Given the description of an element on the screen output the (x, y) to click on. 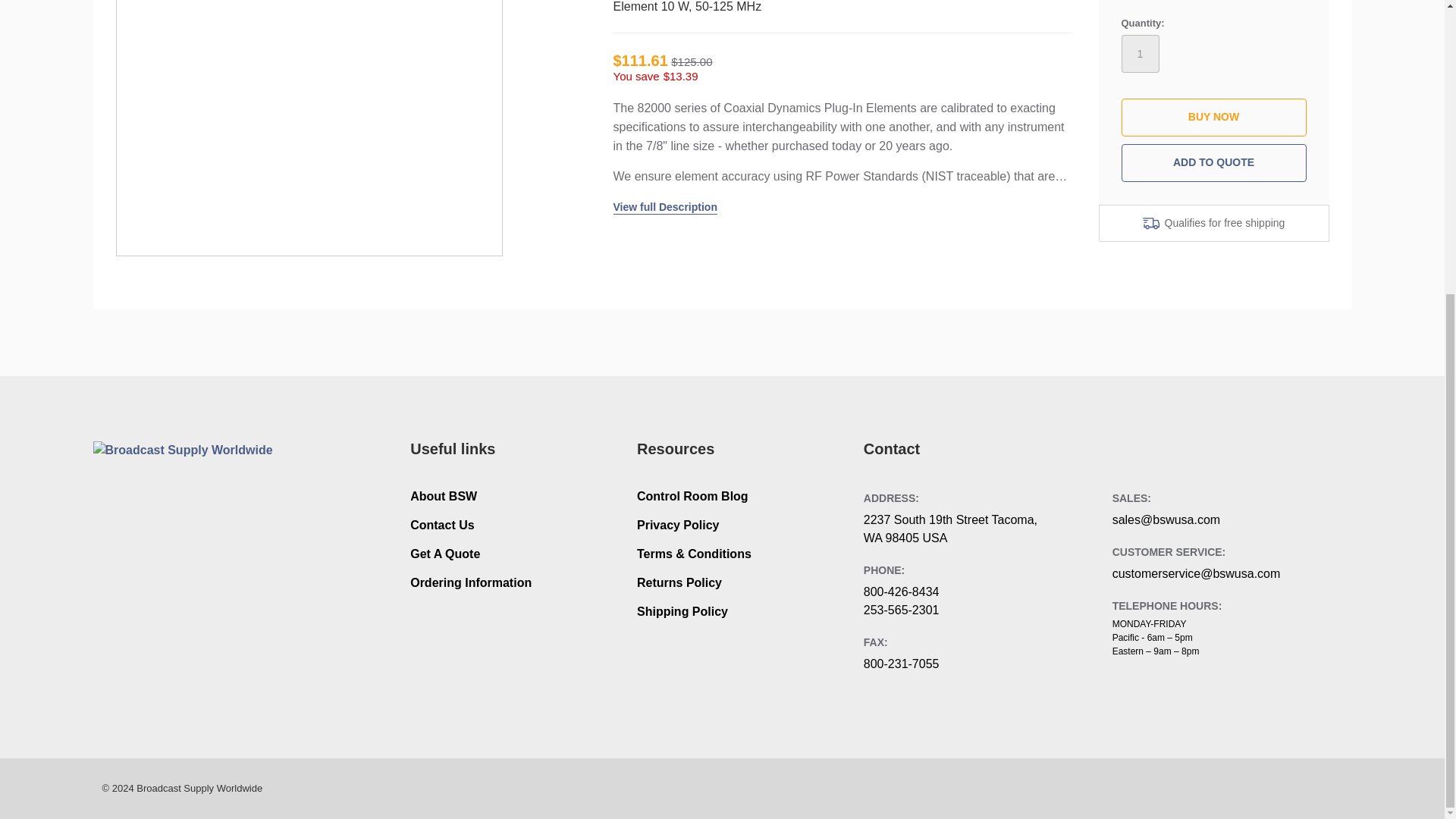
Contact Us (442, 524)
Broadcast Supply Worldwide (191, 465)
Get A Quote (445, 553)
About BSW (443, 495)
Control Room Blog (692, 495)
Buy Now (1213, 117)
Privacy Policy (678, 524)
Ordering Information (470, 582)
1 (1139, 53)
Buy Now (1213, 117)
